Given the description of an element on the screen output the (x, y) to click on. 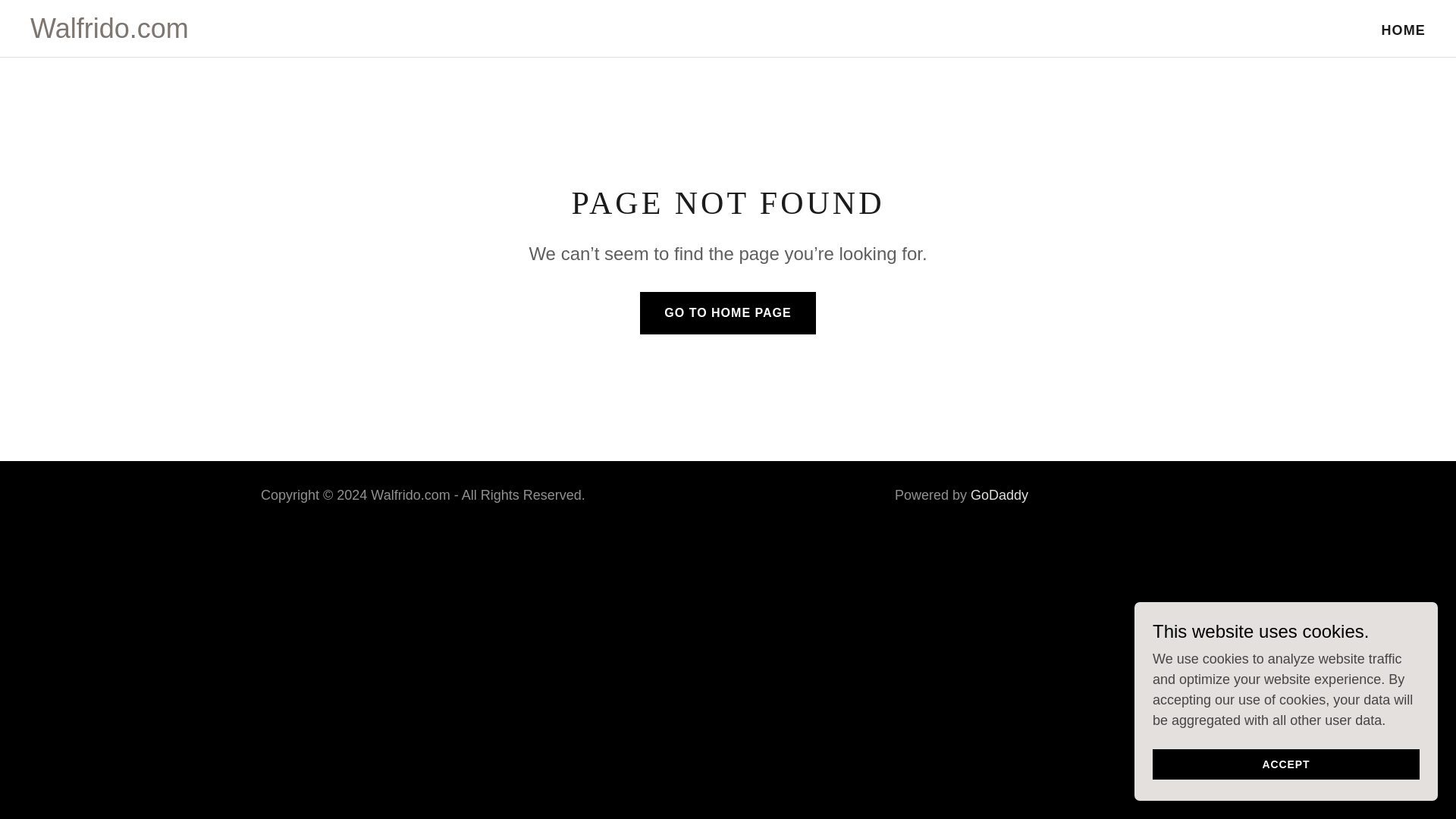
ACCEPT (1286, 764)
GO TO HOME PAGE (727, 312)
Walfrido.com (109, 32)
HOME (1402, 30)
Walfrido.com (109, 32)
GoDaddy (999, 494)
